Given the description of an element on the screen output the (x, y) to click on. 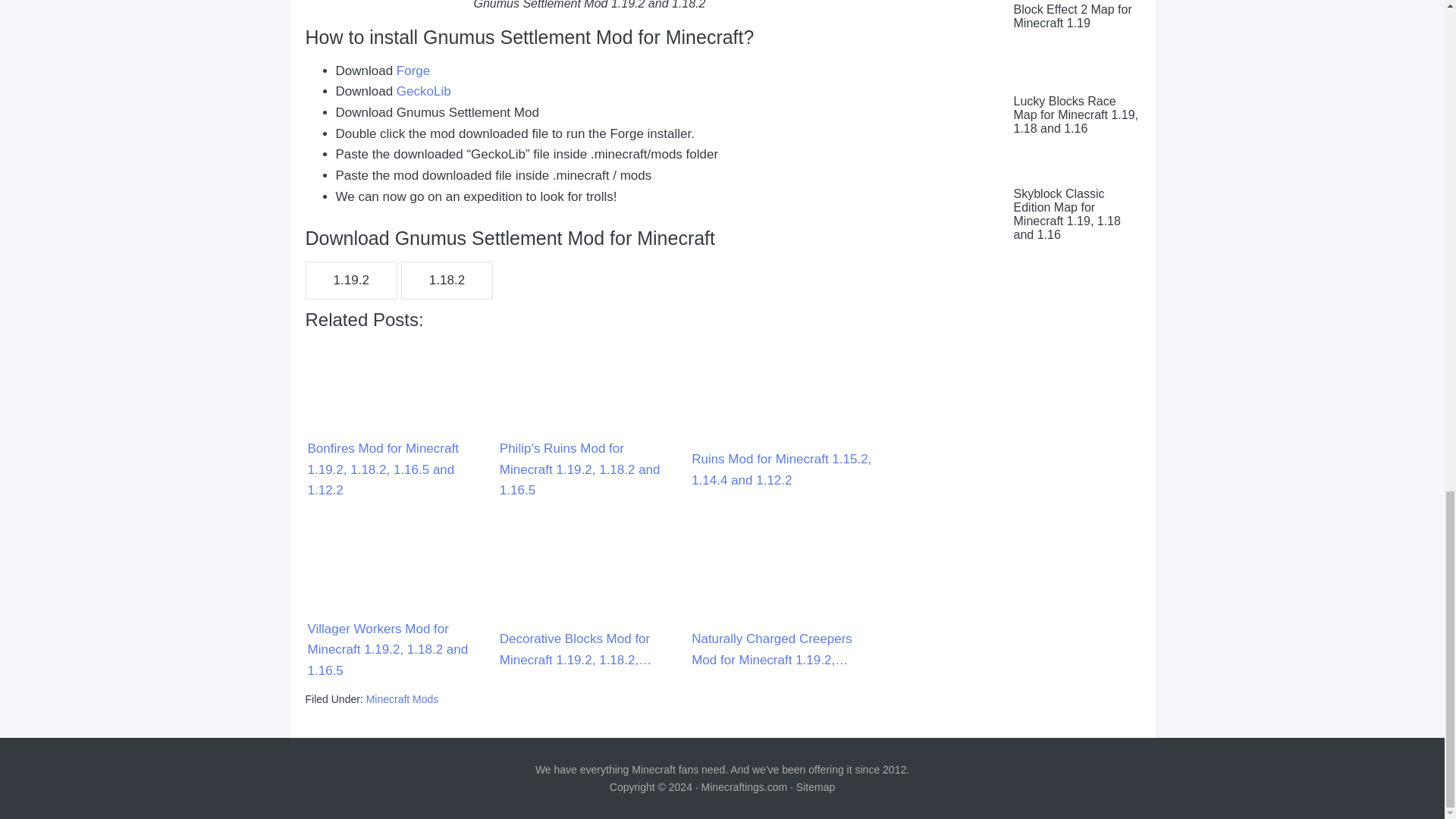
Minecraft Forge (412, 70)
1.19.2 (350, 280)
Bonfires Mod for Minecraft 1.19.2, 1.18.2, 1.16.5 and 1.12.2 (396, 417)
1.18.2 (447, 280)
GeckoLib (423, 91)
Forge (412, 70)
Ruins Mod for Minecraft 1.15.2, 1.14.4 and 1.12.2 (780, 417)
Villager Workers Mod for Minecraft 1.19.2, 1.18.2 and 1.16.5 (396, 597)
Ruins Mod for Minecraft 1.15.2, 1.14.4 and 1.12.2 (780, 385)
